Given the description of an element on the screen output the (x, y) to click on. 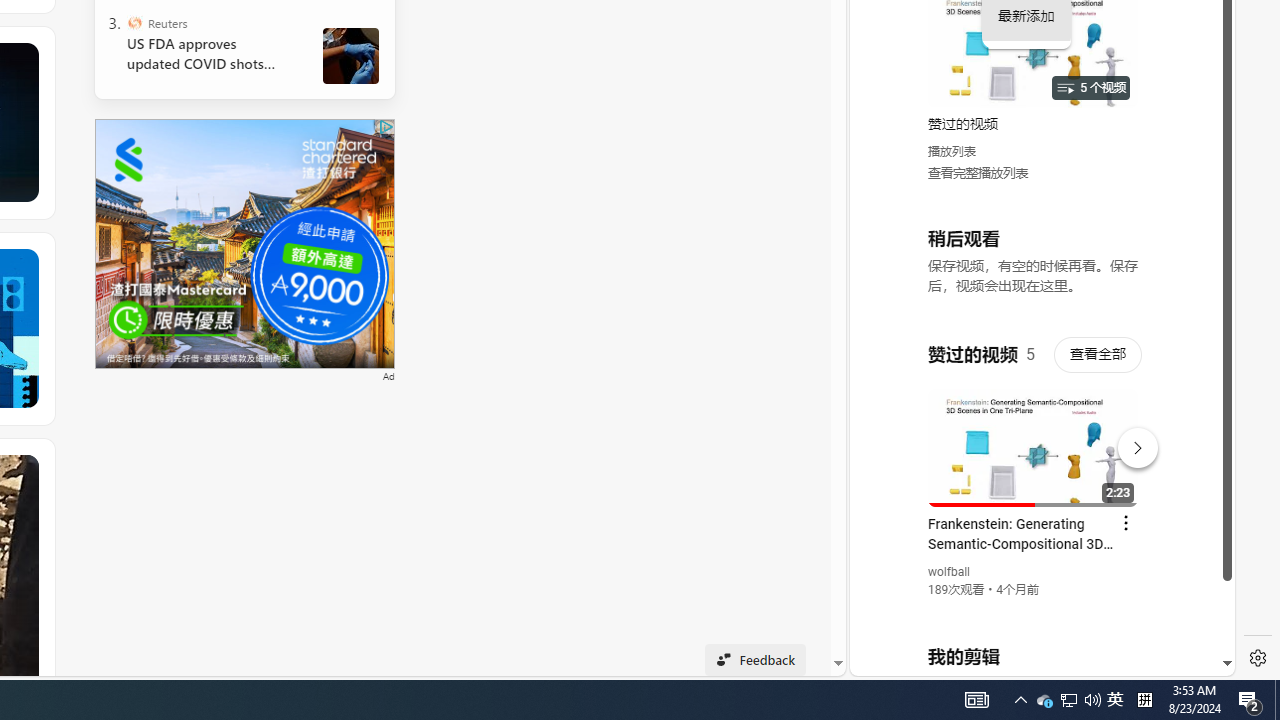
YouTube - YouTube (1034, 266)
wolfball (949, 572)
US FDA approves updated COVID shots ahead of fall and winter (208, 53)
YouTube (1034, 432)
#you (1034, 439)
US[ju] (917, 660)
Click to scroll right (1196, 83)
you (1034, 609)
Class: dict_pnIcon rms_img (1028, 660)
